Given the description of an element on the screen output the (x, y) to click on. 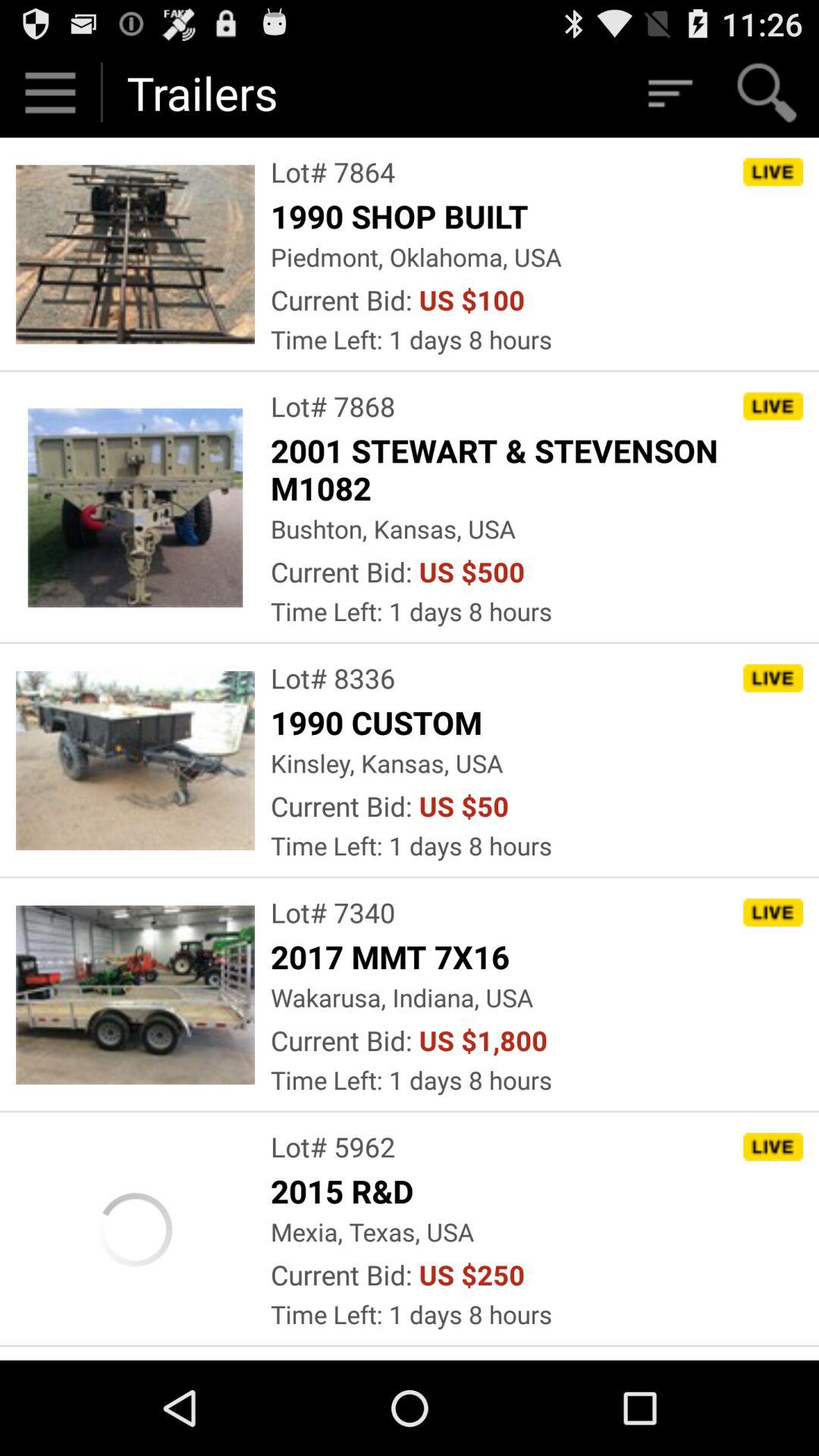
settings (50, 92)
